Given the description of an element on the screen output the (x, y) to click on. 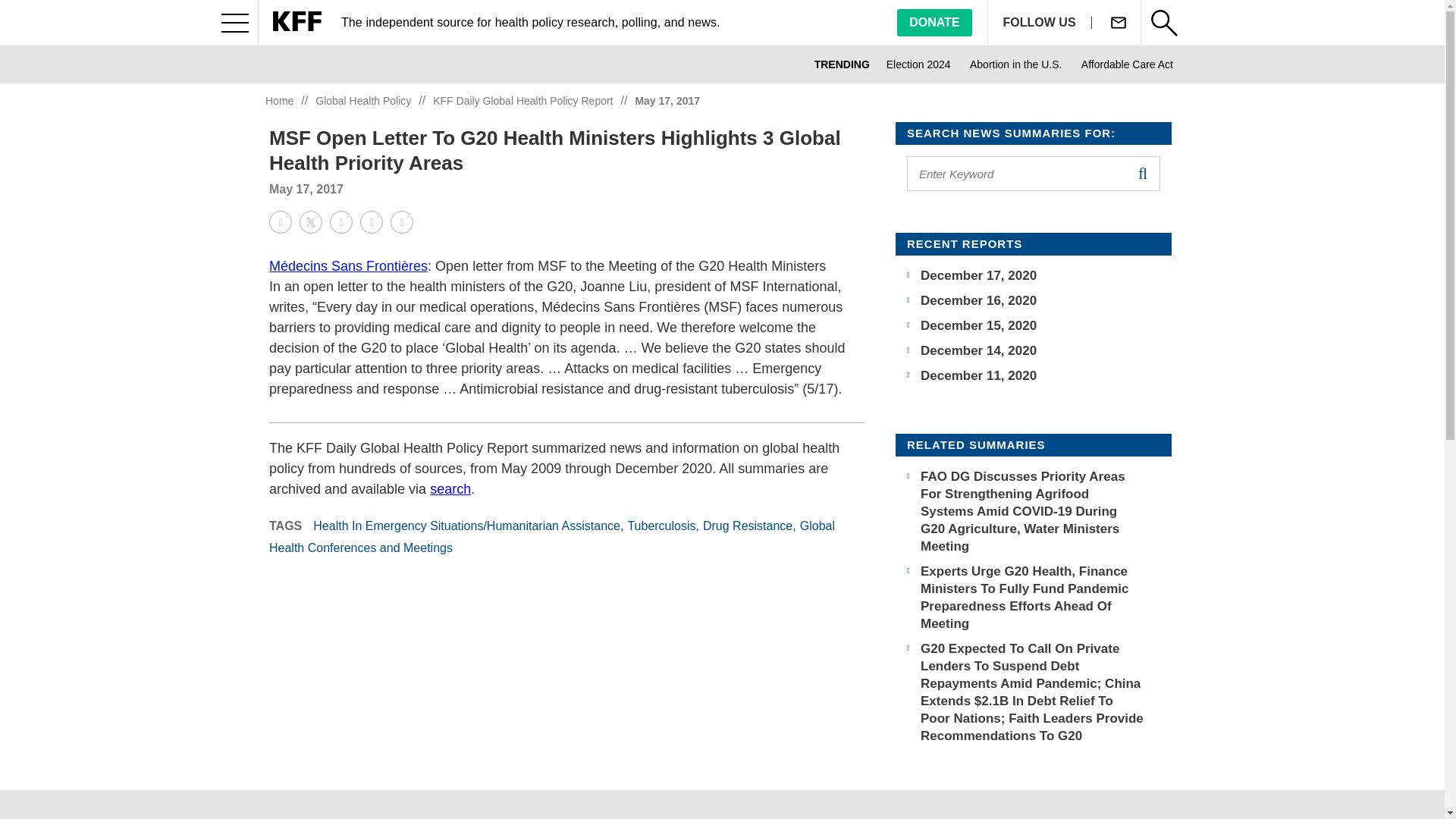
search (1141, 173)
